Given the description of an element on the screen output the (x, y) to click on. 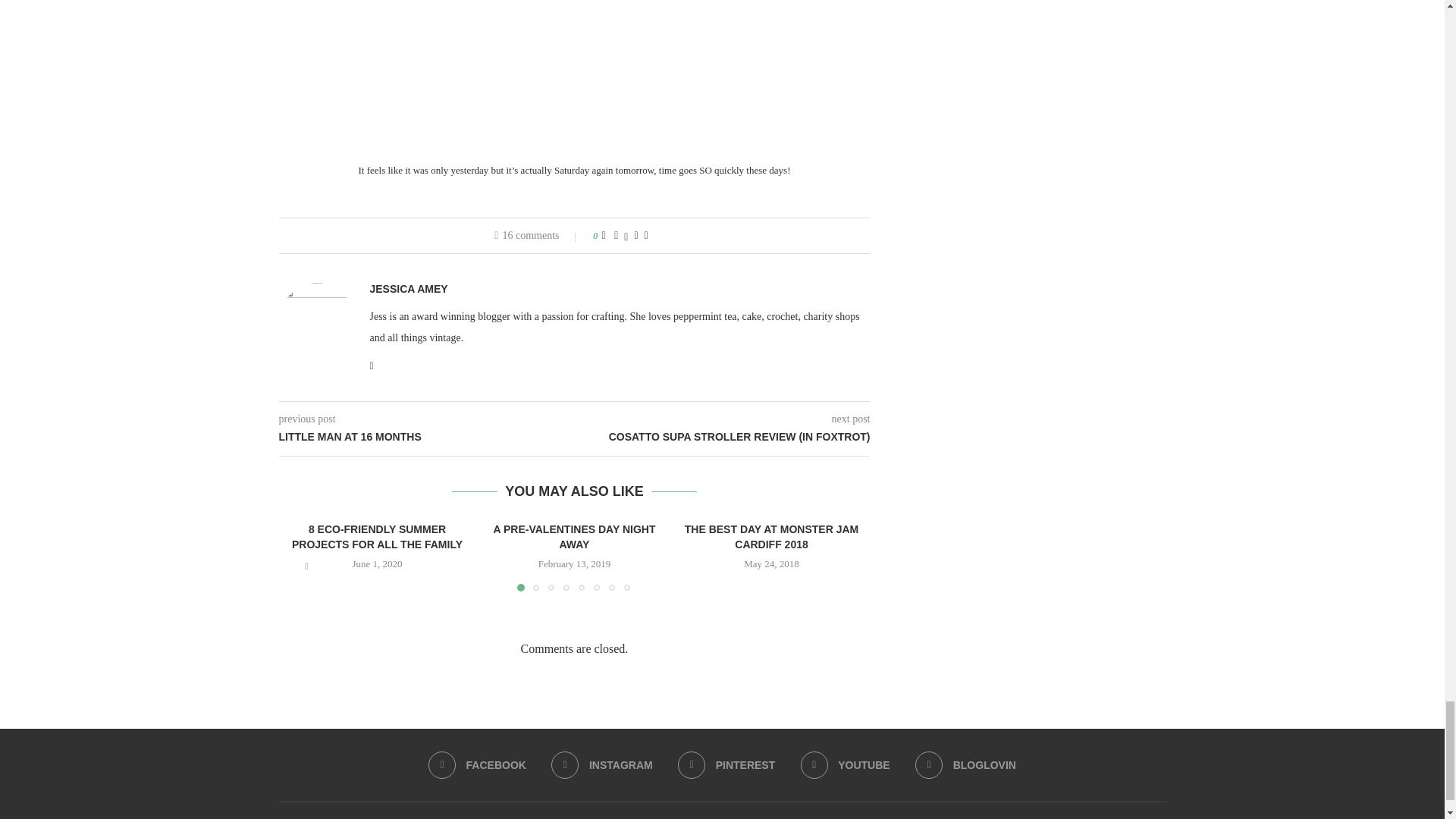
LITTLE MAN AT 16 MONTHS (427, 437)
Author Jessica Amey (408, 288)
THE BEST DAY AT MONSTER JAM CARDIFF 2018 (771, 536)
JESSICA AMEY (408, 288)
A PRE-VALENTINES DAY NIGHT AWAY (574, 536)
8 ECO-FRIENDLY SUMMER PROJECTS FOR ALL THE FAMILY (377, 536)
